Given the description of an element on the screen output the (x, y) to click on. 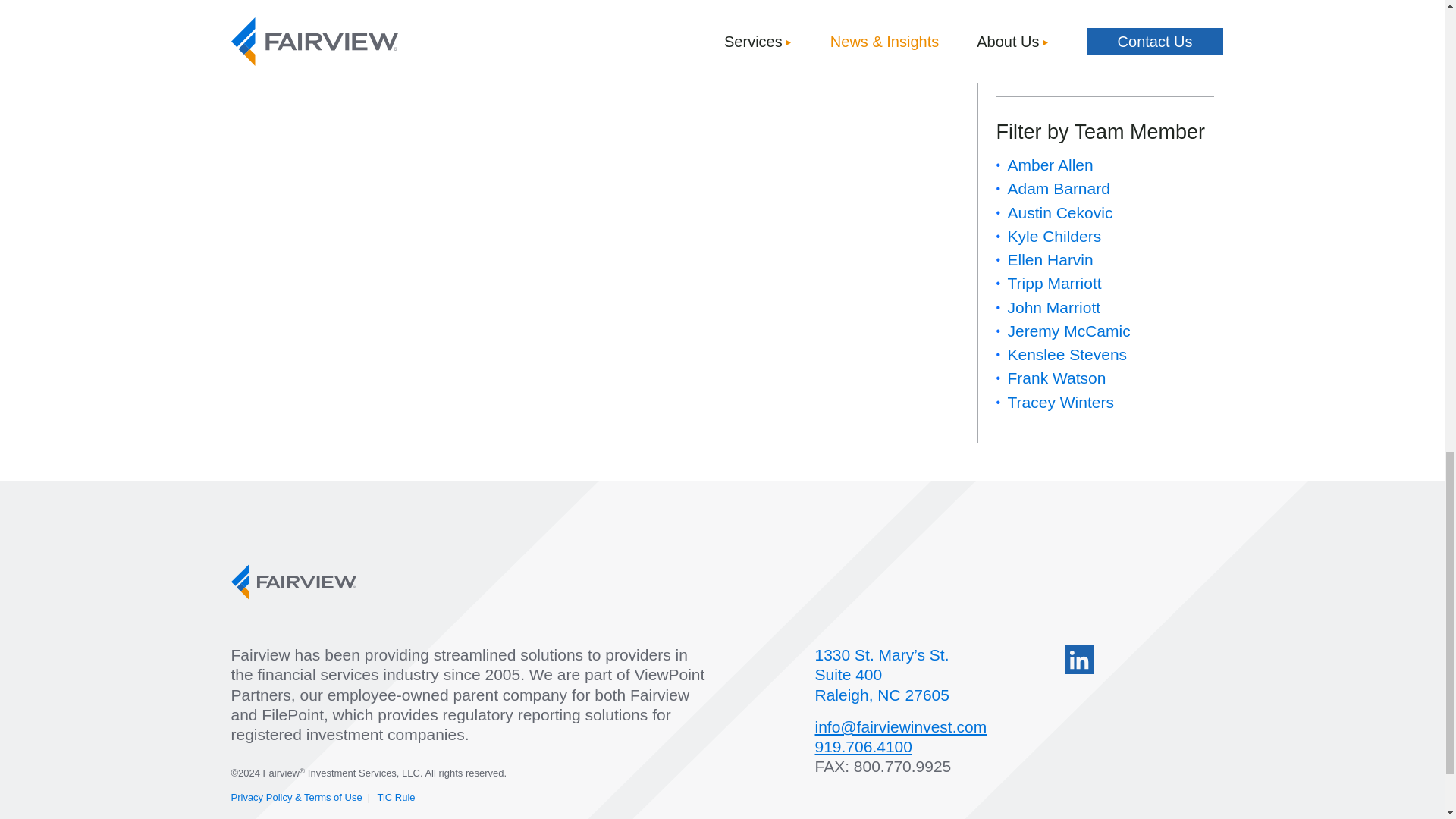
Adam Barnard (1058, 188)
Investment Administration (1098, 8)
Kyle Childers (1053, 235)
Performance Services (1085, 31)
Ellen Harvin (1050, 259)
Amber Allen (1050, 164)
Jeremy McCamic (1068, 330)
Regulatory Filings (1070, 54)
Kenslee Stevens (1066, 354)
Frank Watson (1056, 377)
